Given the description of an element on the screen output the (x, y) to click on. 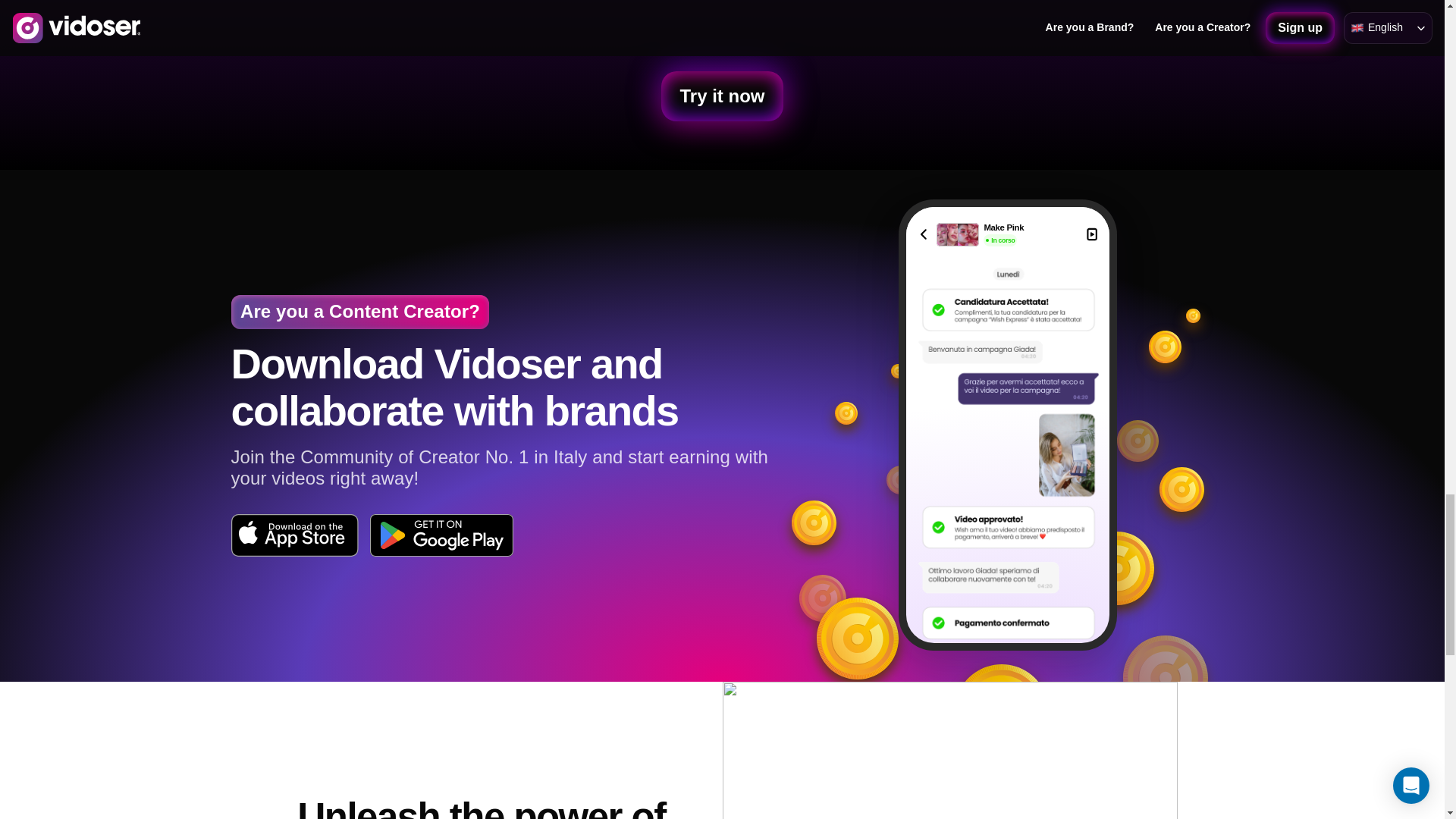
Try it now (722, 96)
